Given the description of an element on the screen output the (x, y) to click on. 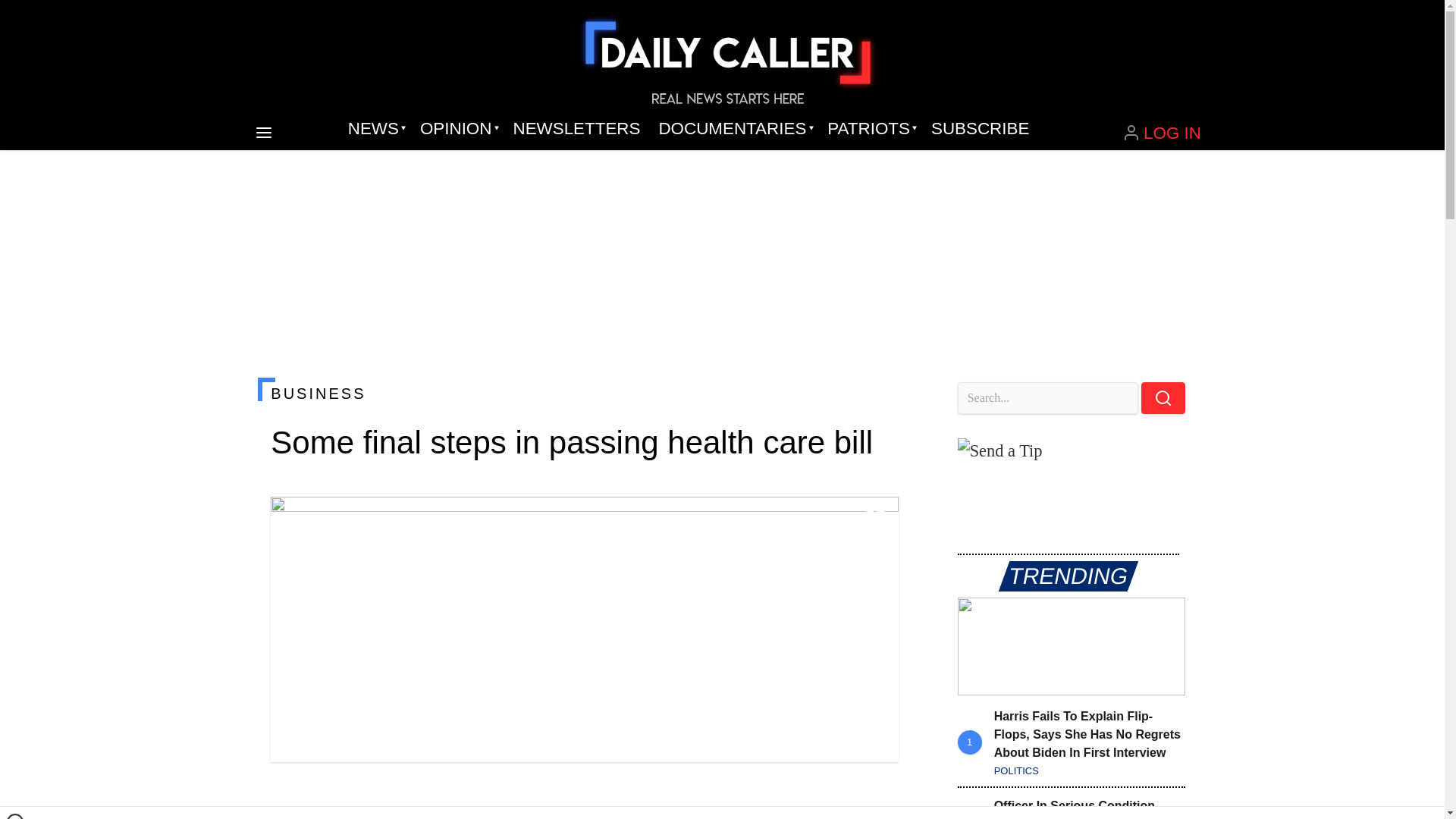
NEWS (374, 128)
Toggle fullscreen (874, 517)
BUSINESS (584, 393)
OPINION (456, 128)
Close window (14, 816)
NEWSLETTERS (576, 128)
SUBSCRIBE (979, 128)
PATRIOTS (869, 128)
DOCUMENTARIES (733, 128)
